Given the description of an element on the screen output the (x, y) to click on. 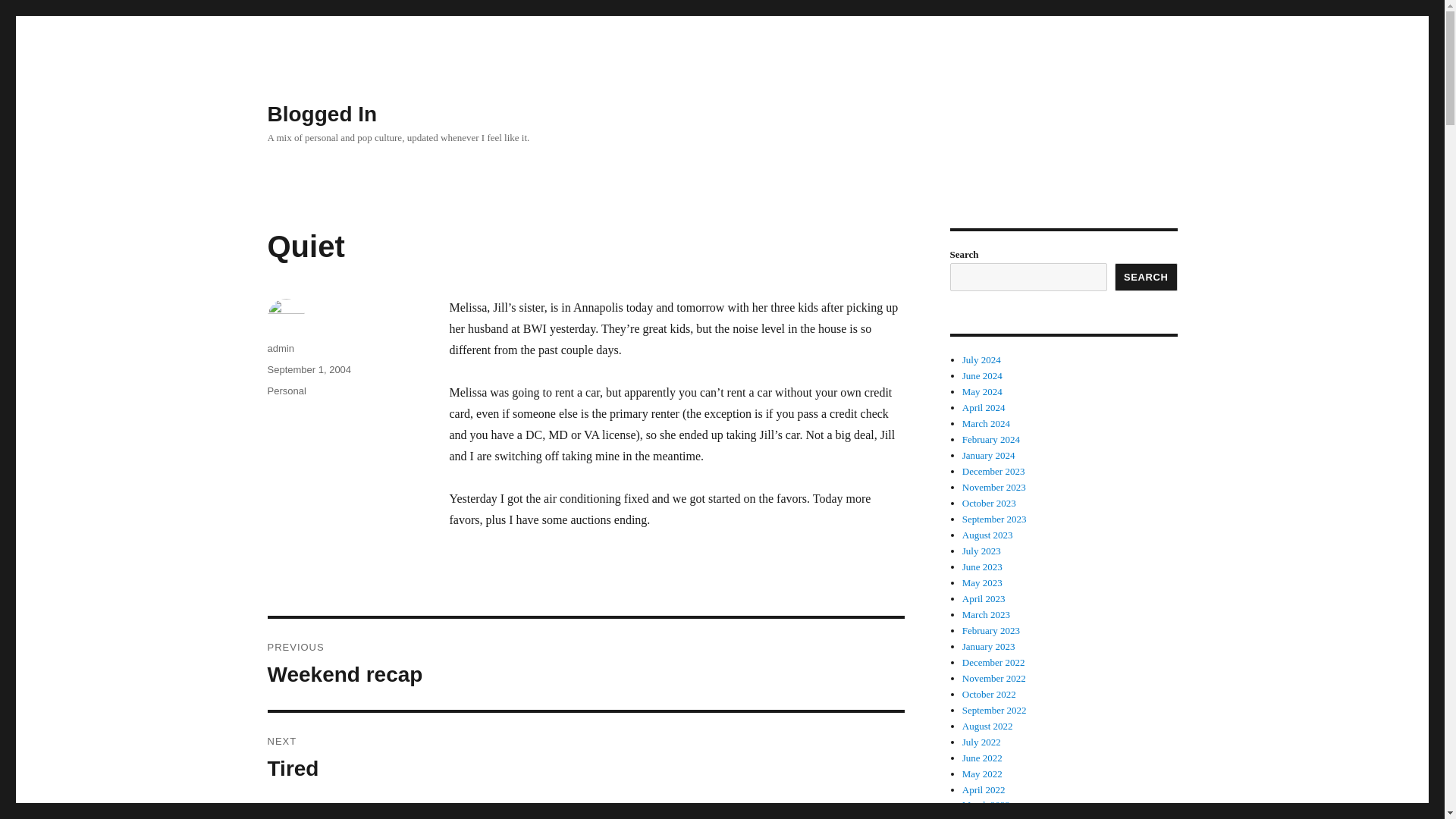
admin (585, 757)
Blogged In (280, 348)
September 1, 2004 (585, 664)
Personal (321, 114)
